Given the description of an element on the screen output the (x, y) to click on. 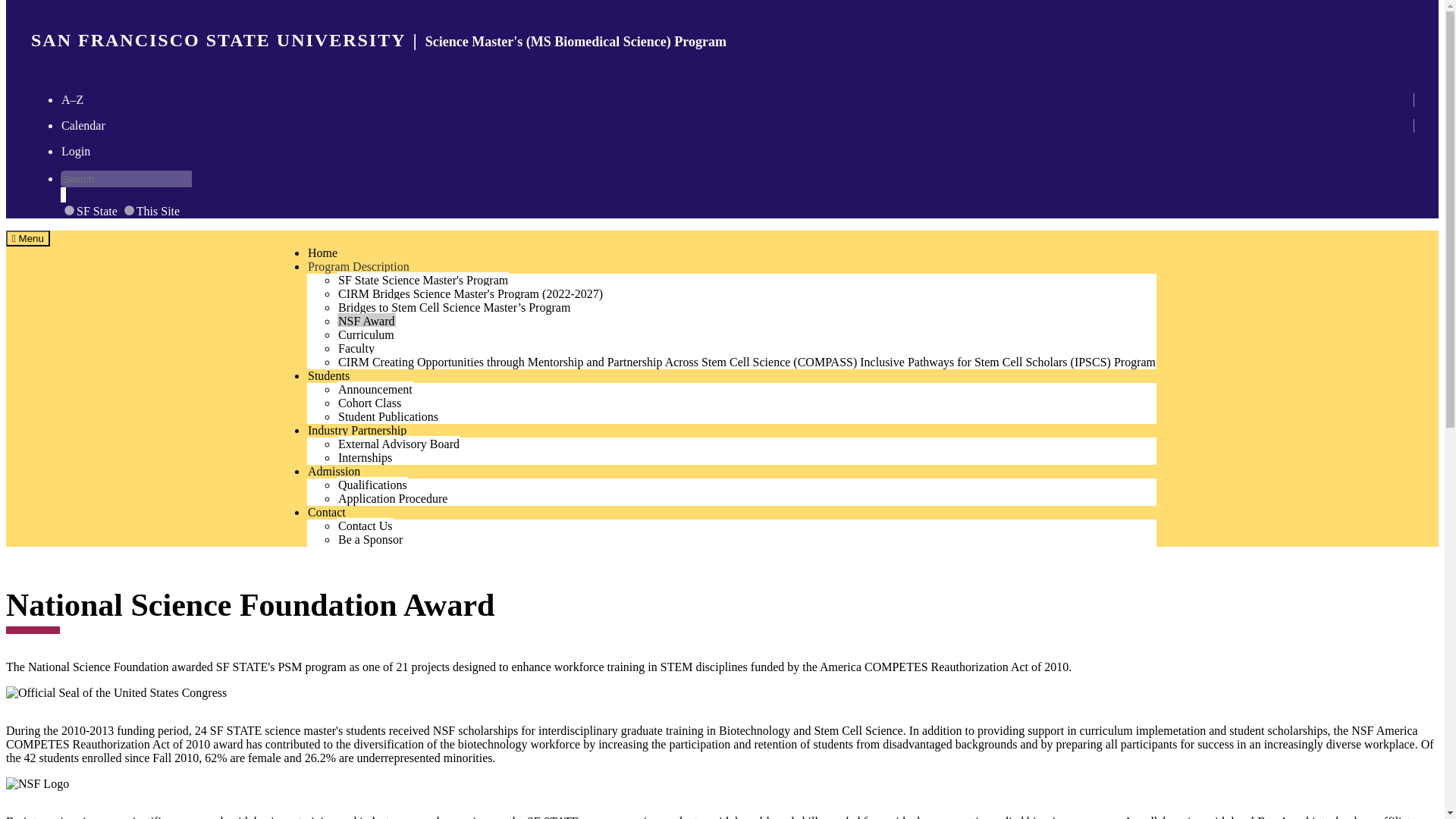
Be a Sponsor (370, 538)
Faculty (356, 347)
Application Procedure (392, 497)
Cohort Class (369, 401)
Search SF State (357, 429)
Internships (27, 238)
NSF Award (134, 194)
